Given the description of an element on the screen output the (x, y) to click on. 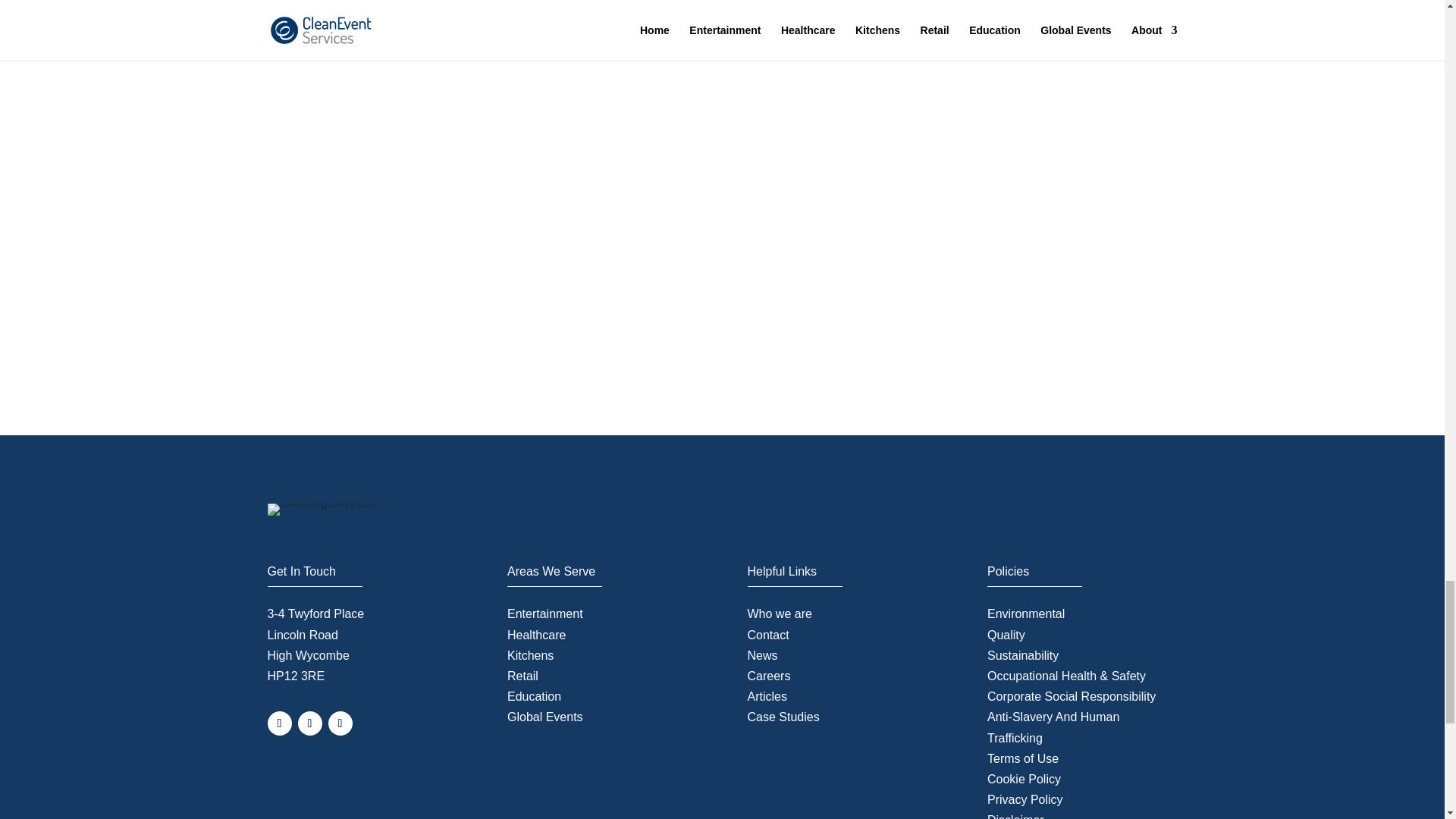
Follow on LinkedIn (339, 723)
Corporate Social Responsibility (1071, 696)
Articles (767, 696)
Who we are (780, 613)
Kitchens (529, 655)
Education (533, 696)
Entertainment (544, 613)
Quality (1006, 634)
Cleaning Services by CleanEvent (321, 509)
Retail (522, 675)
